Given the description of an element on the screen output the (x, y) to click on. 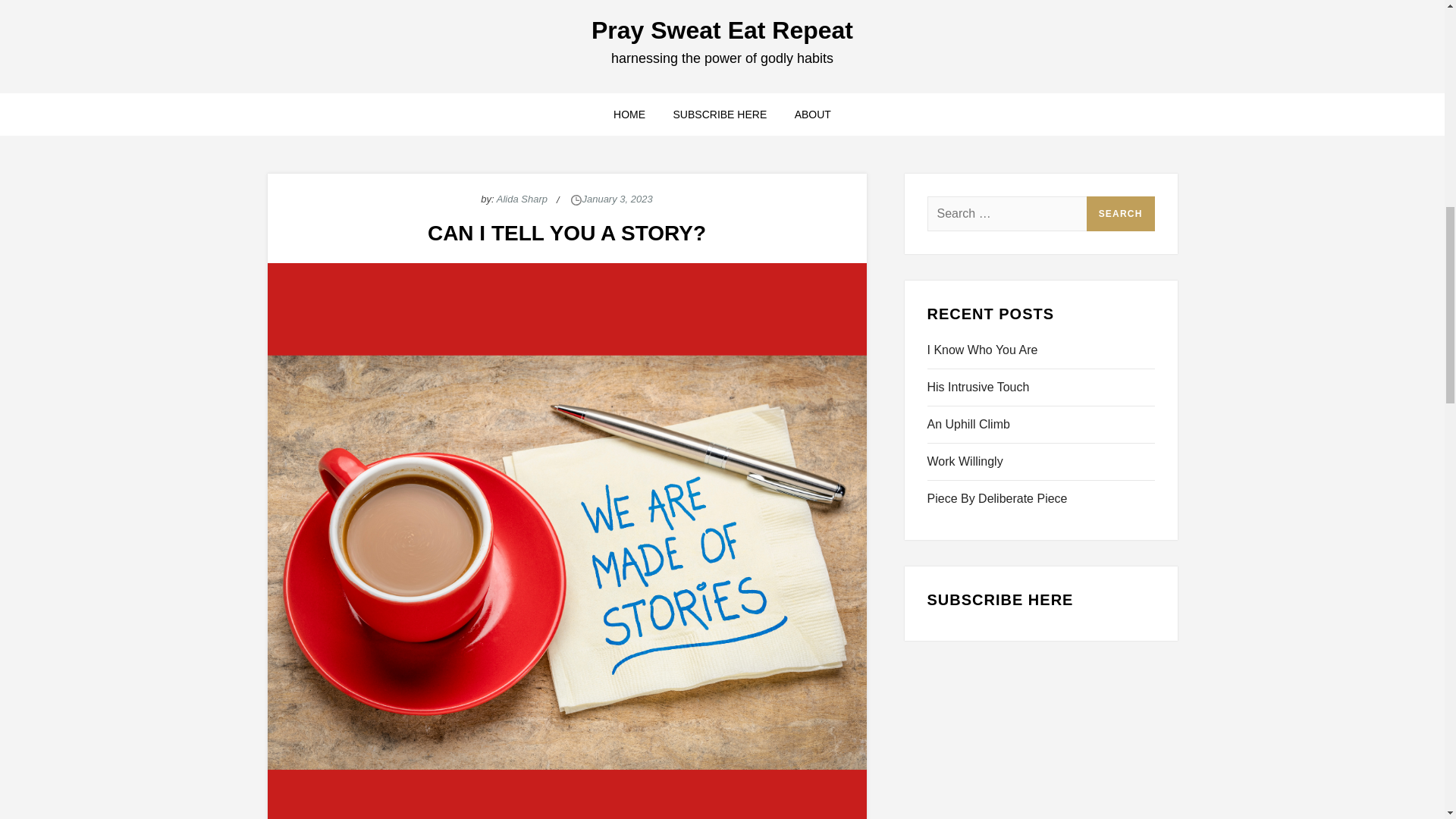
Work Willingly (964, 461)
His Intrusive Touch (977, 387)
HOME (629, 114)
Pray Sweat Eat Repeat (722, 30)
Alida Sharp (521, 198)
Search (1120, 213)
I Know Who You Are (981, 350)
Search (1120, 213)
January 3, 2023 (616, 198)
ABOUT (813, 114)
